Given the description of an element on the screen output the (x, y) to click on. 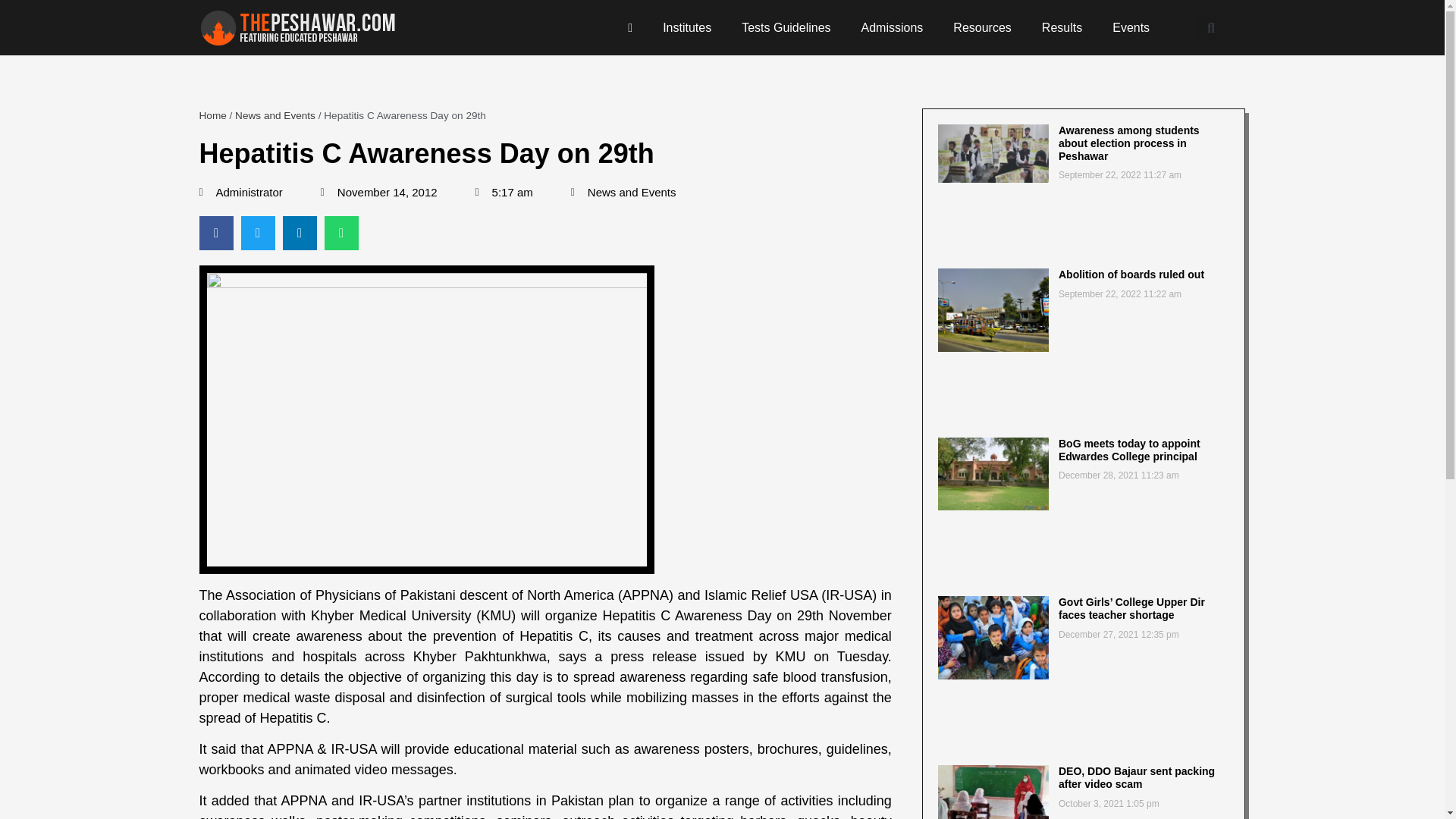
Results (1061, 28)
Institutes (686, 28)
Tests Guidelines (785, 28)
Resources (981, 28)
Admissions (892, 28)
